Given the description of an element on the screen output the (x, y) to click on. 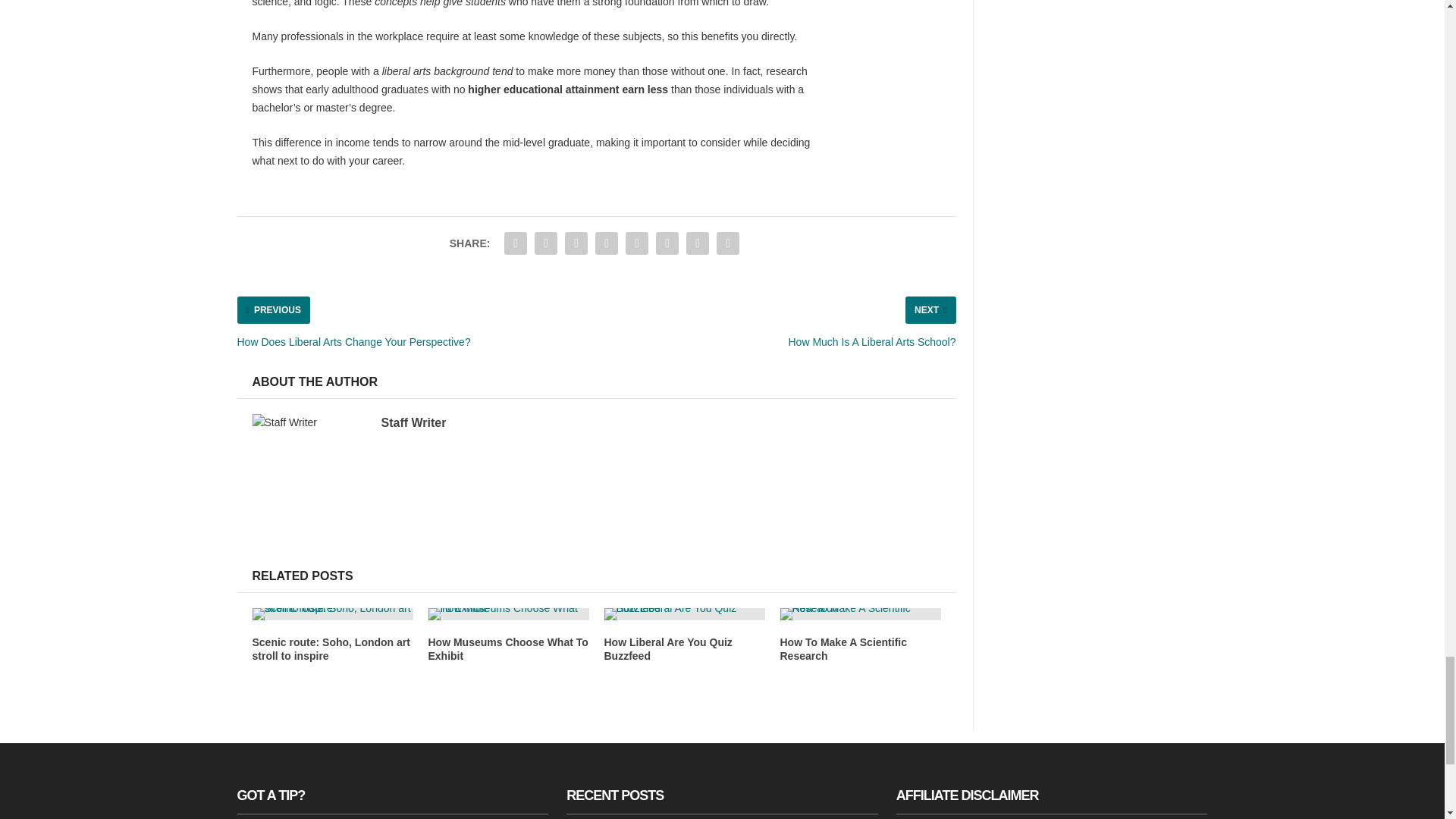
How Museums Choose What To Exhibit (508, 647)
How To Make A Scientific Research (842, 647)
Share "How Useful Is A Liberal Arts Degree?" via LinkedIn (667, 243)
How Liberal Are You Quiz Buzzfeed (668, 647)
Staff Writer (412, 422)
Share "How Useful Is A Liberal Arts Degree?" via Tumblr (606, 243)
Scenic route: Soho, London art stroll to inspire (330, 647)
View all posts by Staff Writer (412, 422)
Share "How Useful Is A Liberal Arts Degree?" via Print (727, 243)
Share "How Useful Is A Liberal Arts Degree?" via Email (697, 243)
